Given the description of an element on the screen output the (x, y) to click on. 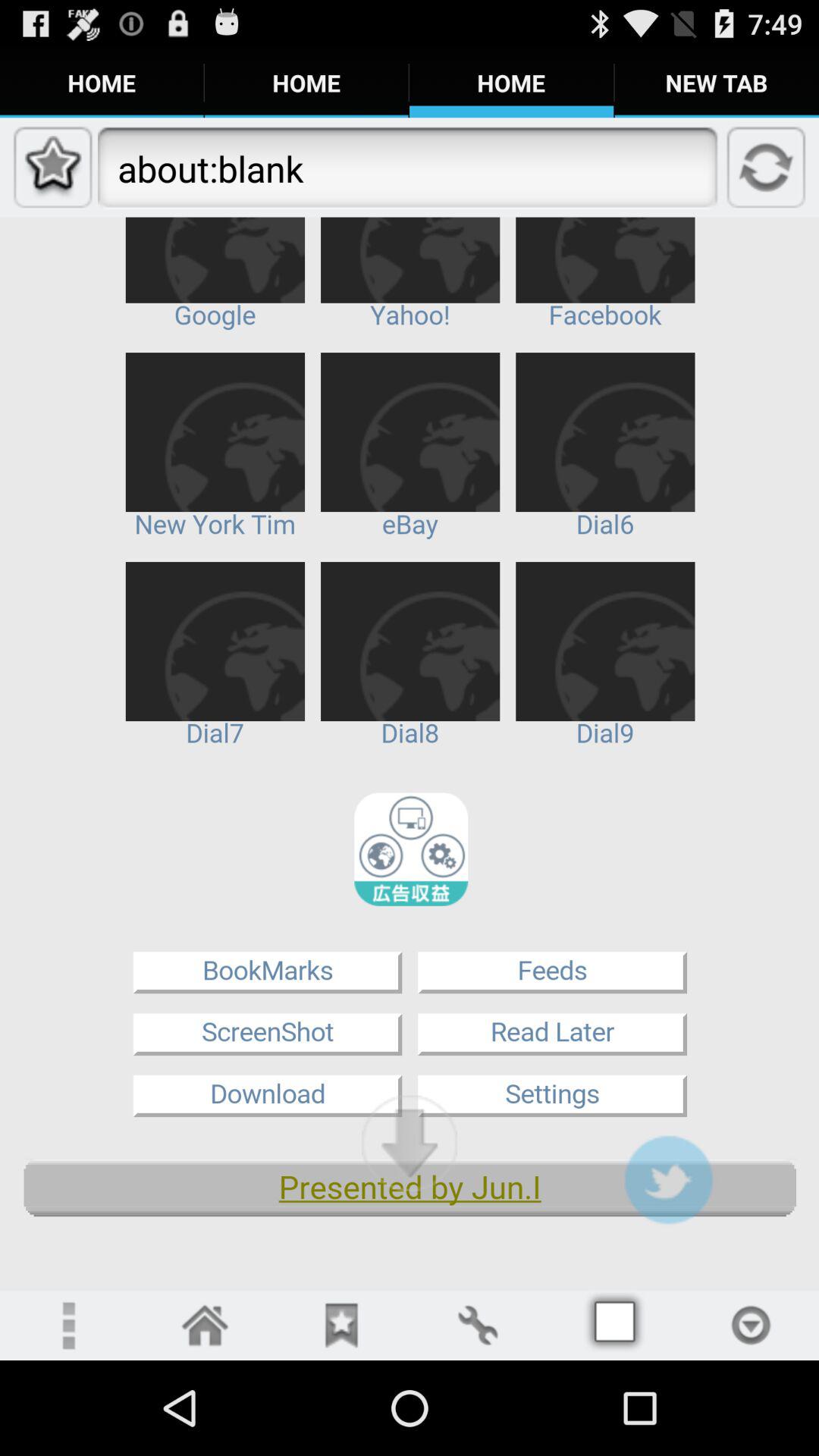
open menu (68, 1325)
